Given the description of an element on the screen output the (x, y) to click on. 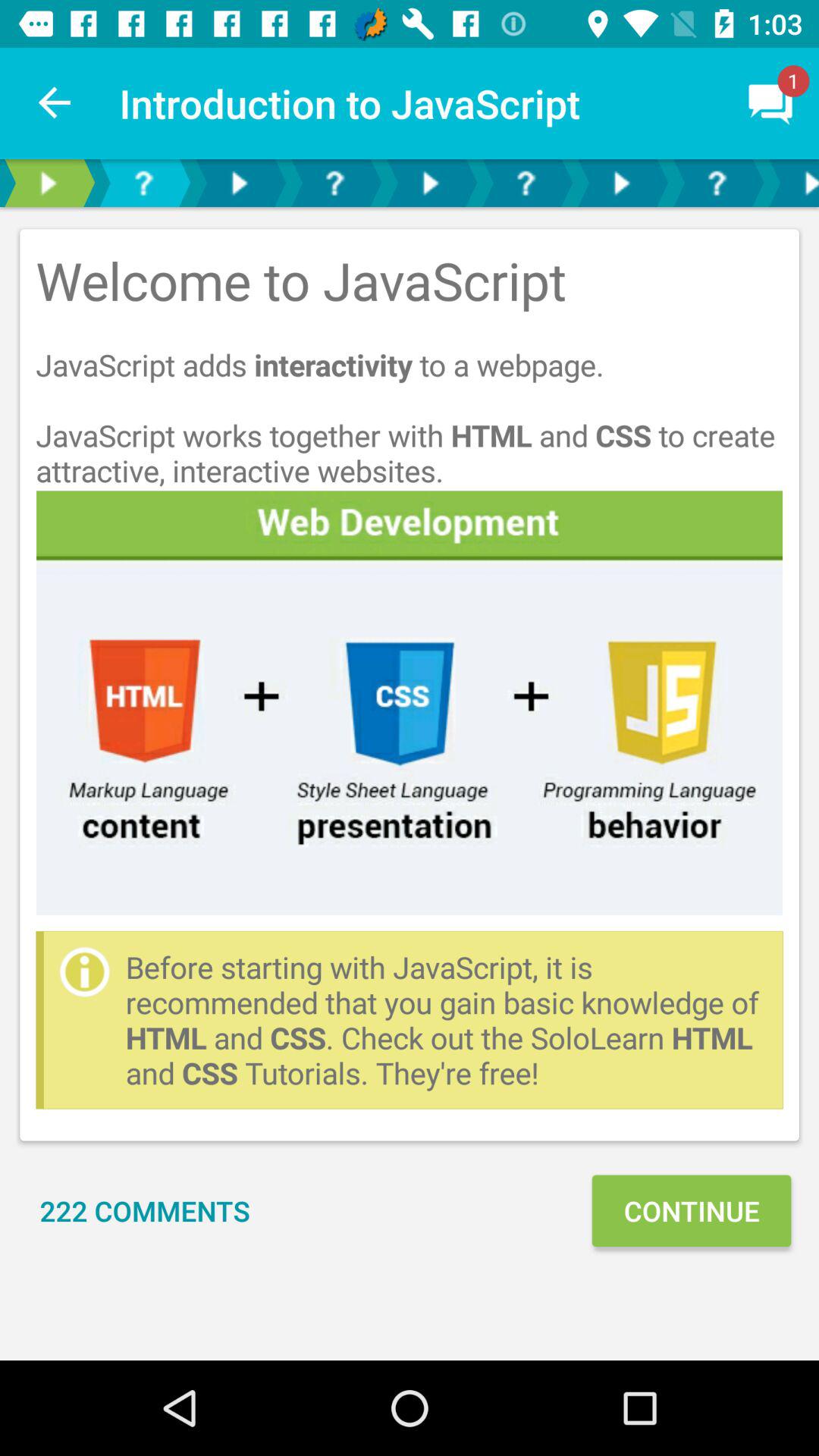
press the icon next to introduction to javascript icon (55, 103)
